Given the description of an element on the screen output the (x, y) to click on. 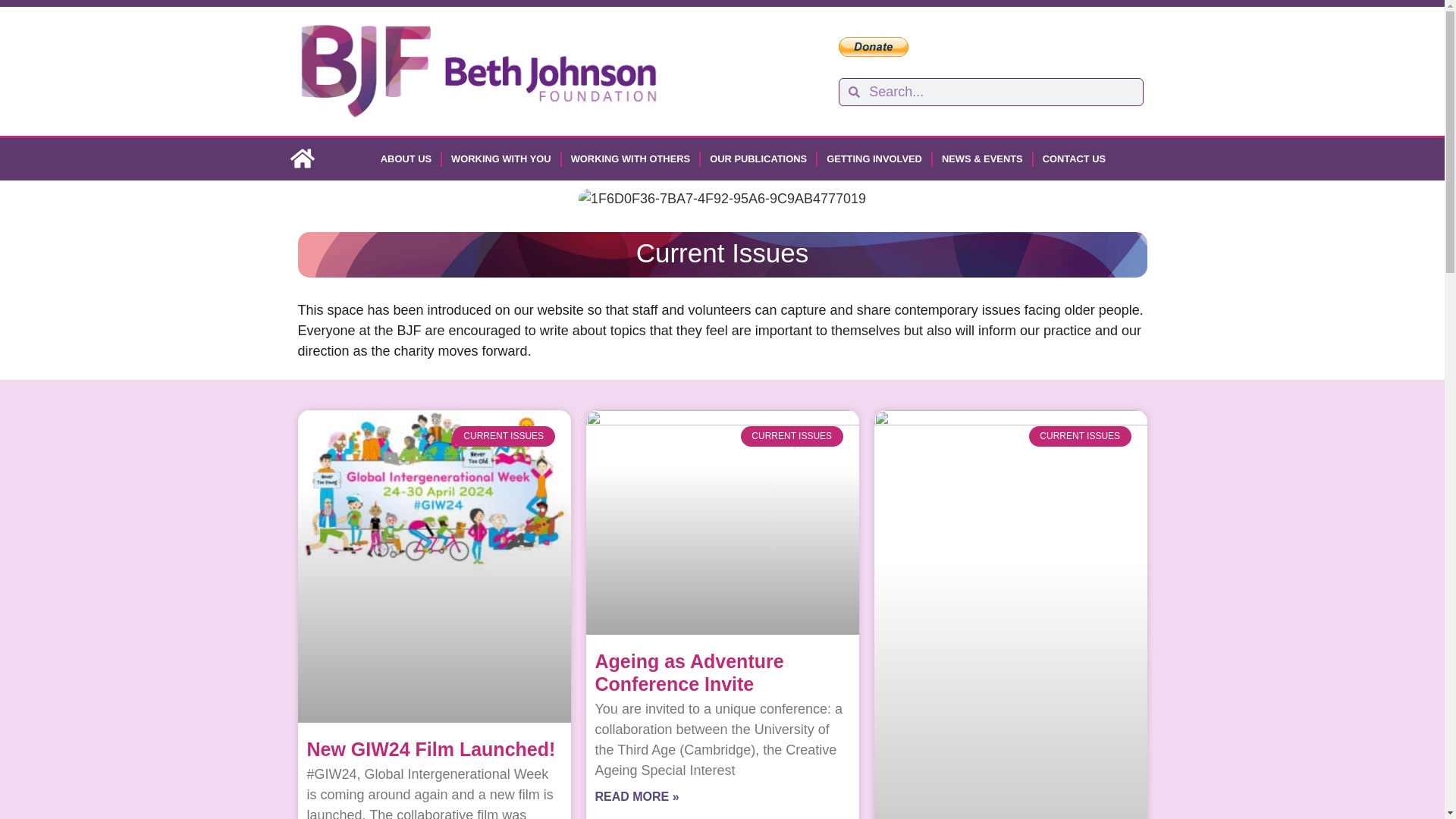
PayPal - The safer, easier way to pay online! (873, 46)
GETTING INVOLVED (873, 159)
OUR PUBLICATIONS (757, 159)
WORKING WITH OTHERS (631, 159)
ABOUT US (406, 159)
WORKING WITH YOU (501, 159)
1F6D0F36-7BA7-4F92-95A6-9C9AB4777019 (722, 199)
